Given the description of an element on the screen output the (x, y) to click on. 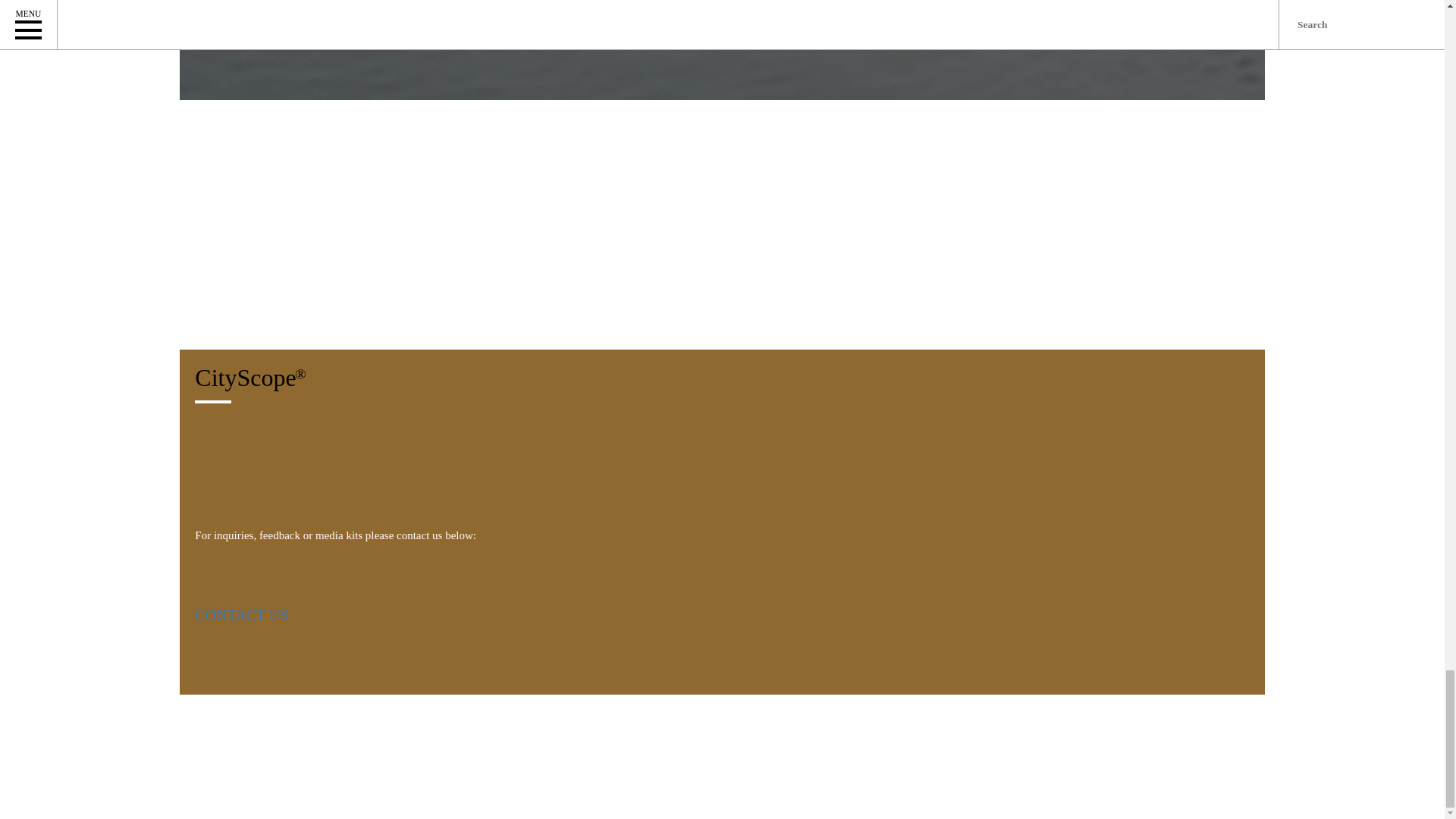
twitter (238, 687)
CONTACT US (241, 615)
instagram (276, 687)
